Given the description of an element on the screen output the (x, y) to click on. 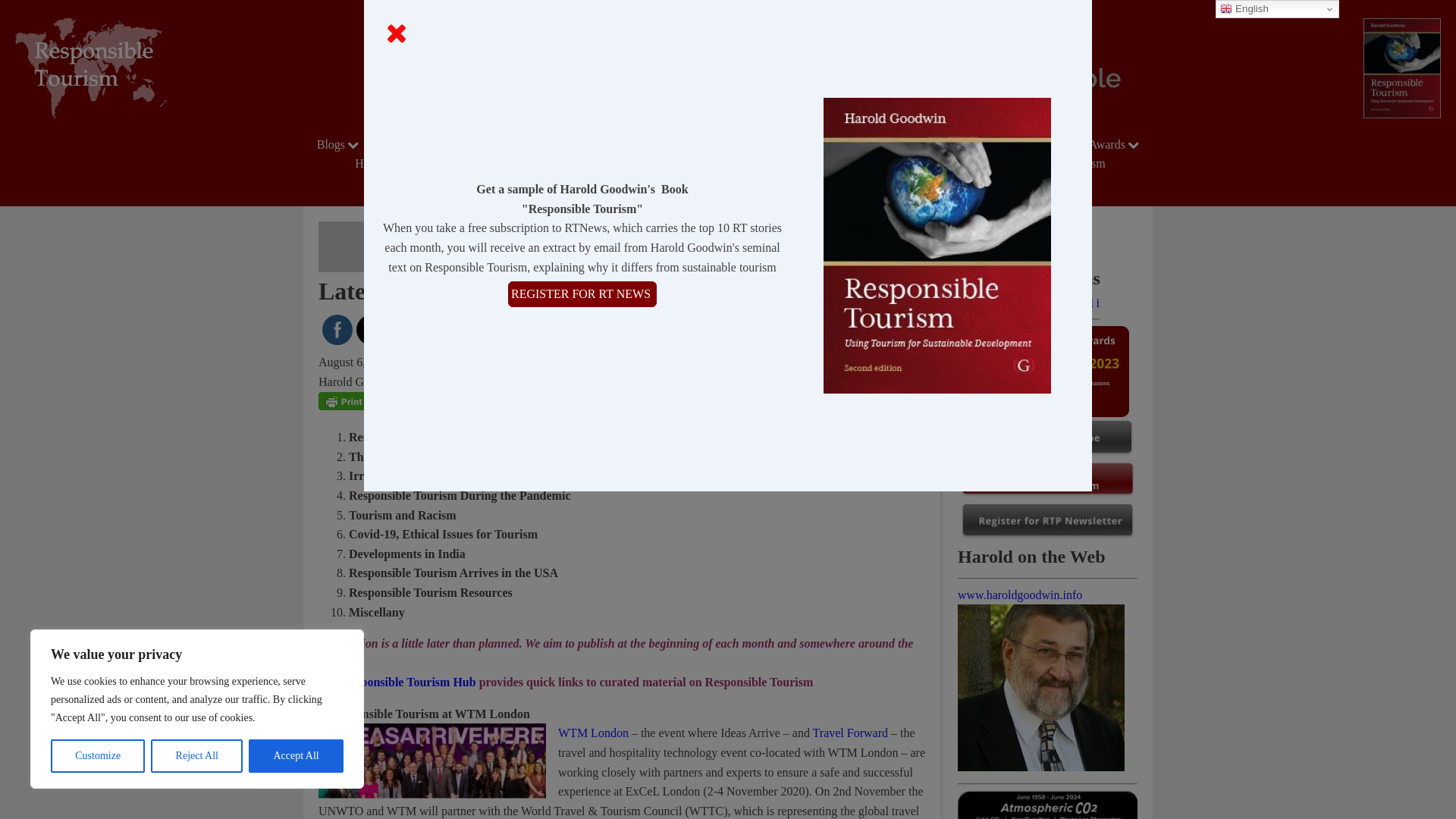
2022 Responsible Tourism Charter (686, 144)
OverTourism (927, 144)
Harold Goodwin inducted into Global Travel Hall of Fame (1029, 302)
Customize (97, 756)
RSS (473, 329)
What is RT? (829, 144)
About Us (550, 144)
Twitter (371, 330)
YouTube (439, 329)
Follow by Email (405, 329)
Facebook (337, 329)
Platform for Change (440, 144)
Reject All (197, 756)
Accept All (295, 756)
Blogs (340, 144)
